Given the description of an element on the screen output the (x, y) to click on. 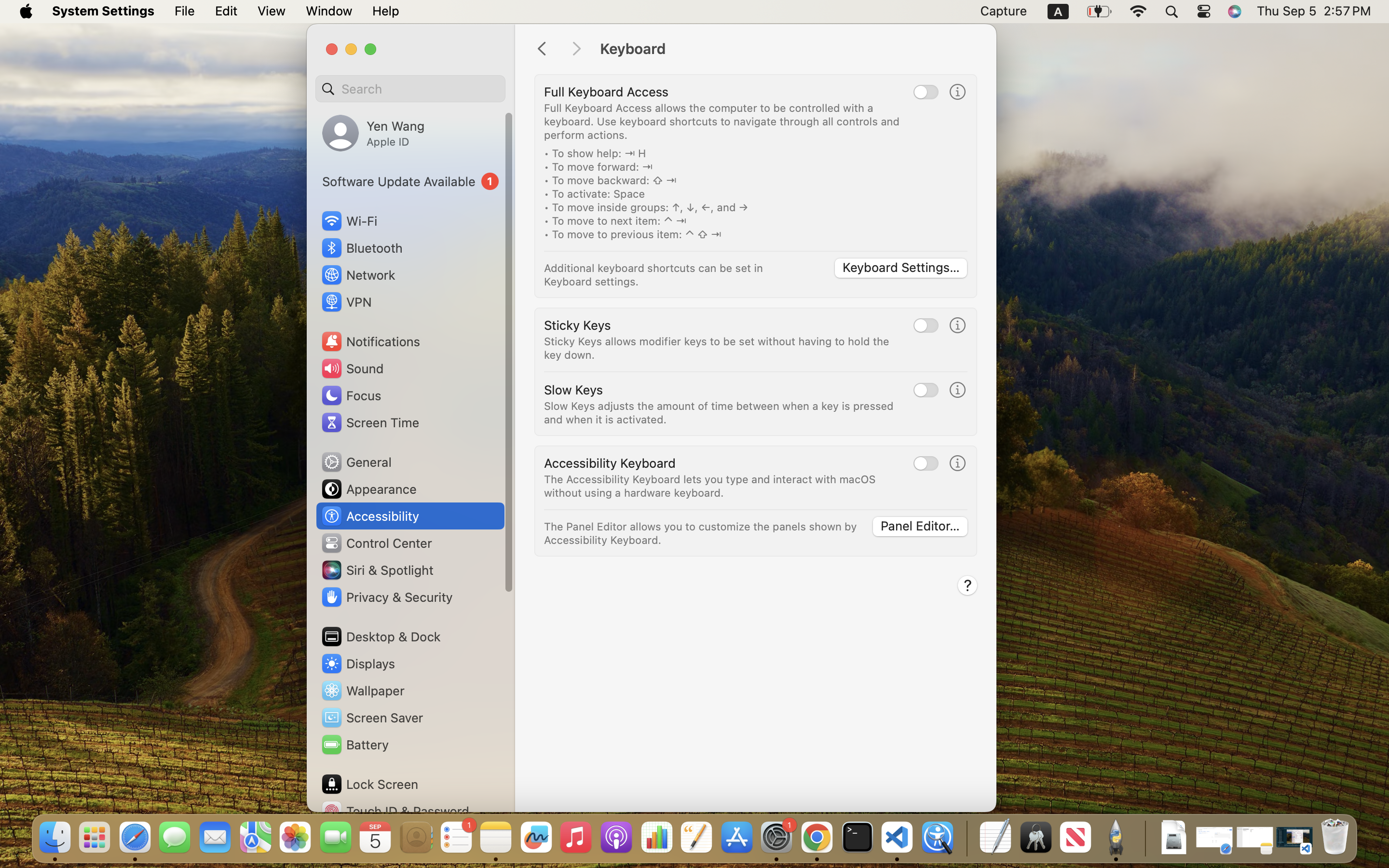
Slow Keys adjusts the amount of time between when a key is pressed and when it is activated. Element type: AXStaticText (720, 412)
Sound Element type: AXStaticText (351, 367)
Appearance Element type: AXStaticText (368, 488)
Full Keyboard Access allows the computer to be controlled with a keyboard. Use keyboard shortcuts to navigate through all controls and perform actions. Element type: AXStaticText (723, 121)
